Given the description of an element on the screen output the (x, y) to click on. 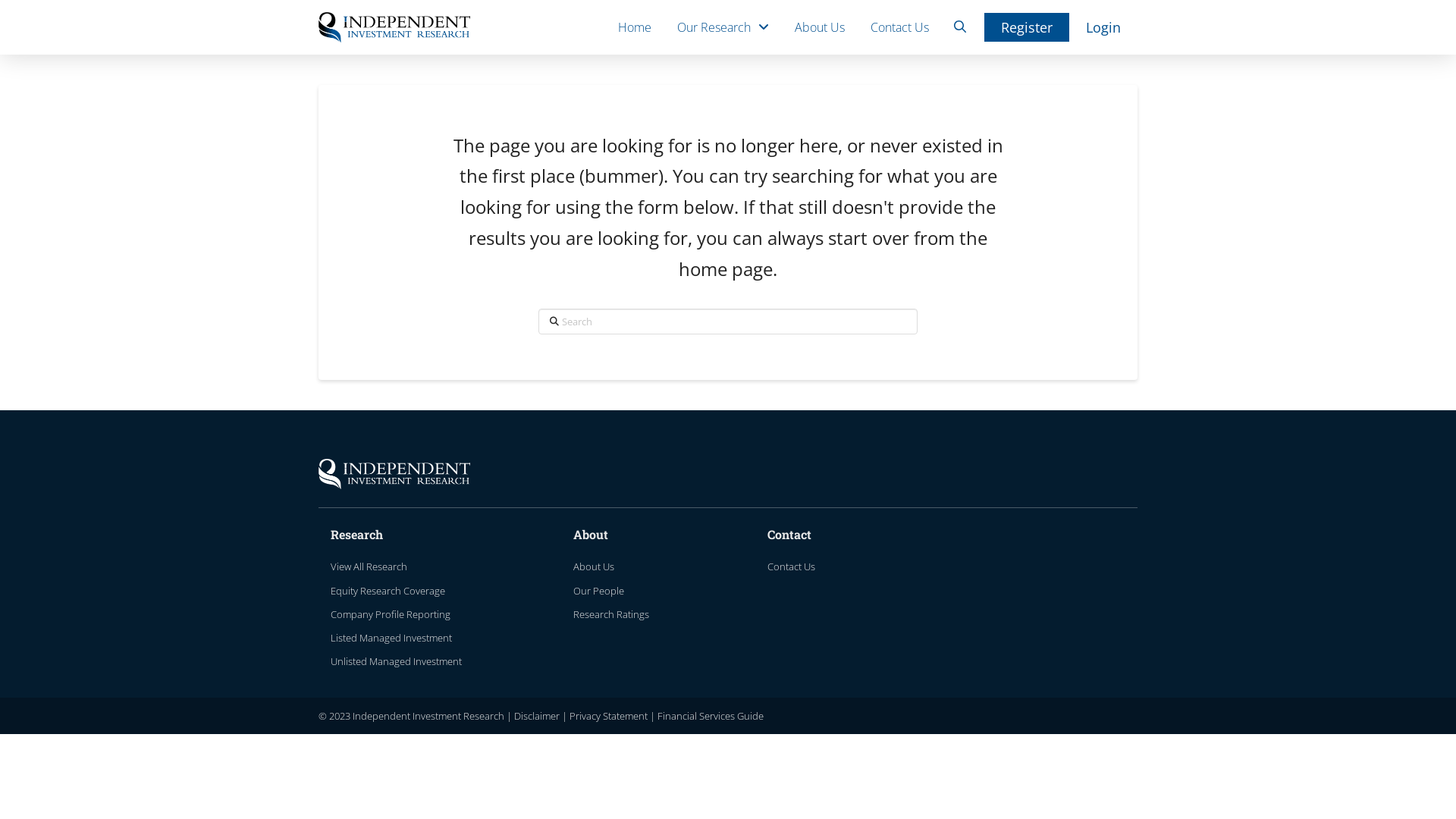
Listed Managed Investment Element type: text (397, 637)
Contact Us Element type: text (797, 566)
Unlisted Managed Investment Element type: text (402, 661)
Financial Services Guide Element type: text (710, 715)
Privacy Statement Element type: text (608, 715)
About Us Element type: text (600, 566)
About Us Element type: text (819, 27)
Research Ratings Element type: text (617, 614)
View All Research Element type: text (375, 566)
Our Research Element type: text (722, 27)
Our People Element type: text (605, 590)
Disclaimer Element type: text (536, 715)
Home Element type: text (634, 27)
Register Element type: text (1026, 26)
Equity Research Coverage Element type: text (394, 590)
Company Profile Reporting Element type: text (396, 614)
Contact Us Element type: text (899, 27)
